Given the description of an element on the screen output the (x, y) to click on. 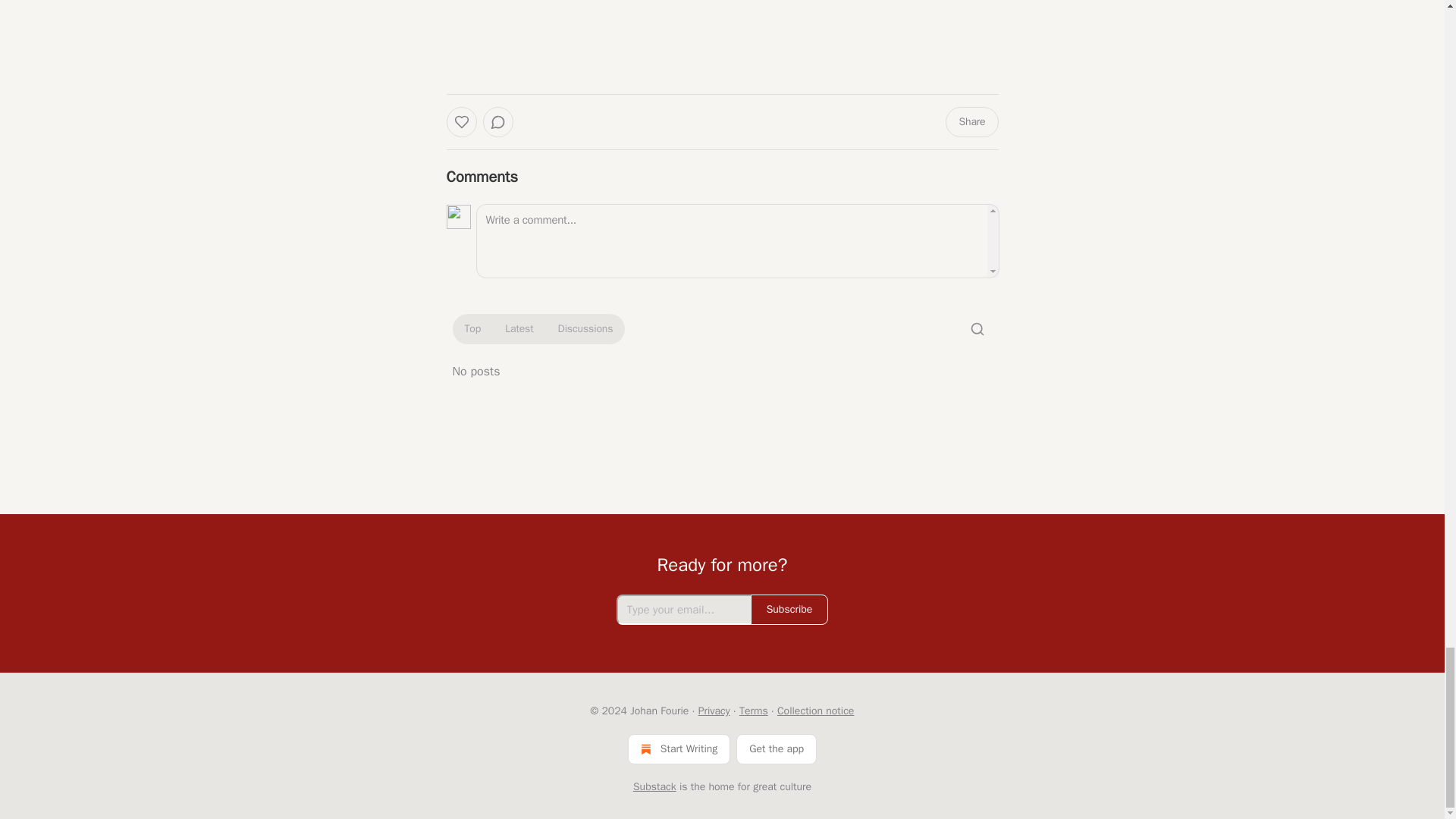
Top (471, 328)
Subscribe (789, 609)
Share (970, 122)
Discussions (585, 328)
Latest (518, 328)
